Given the description of an element on the screen output the (x, y) to click on. 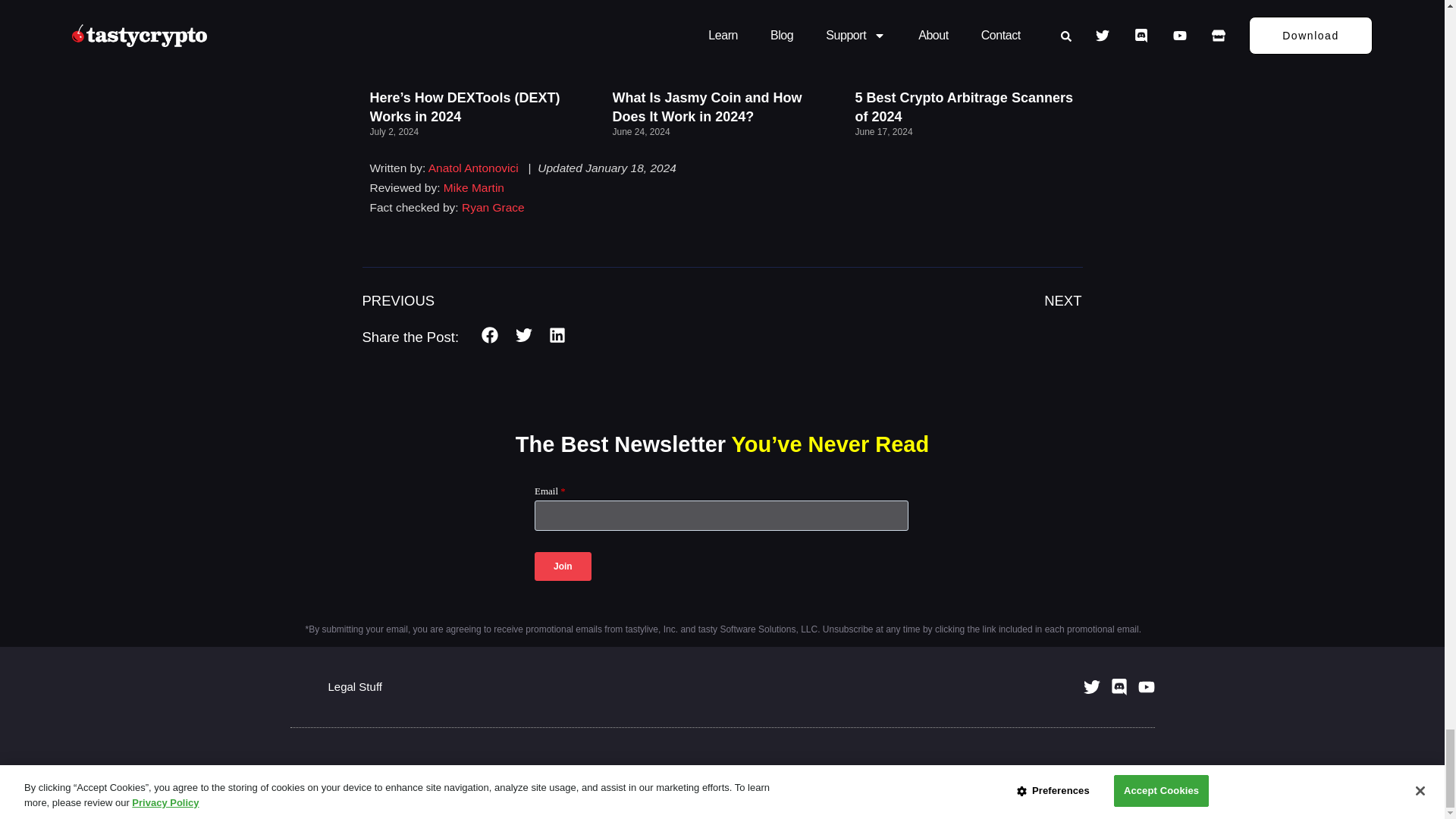
favicon (301, 686)
